Given the description of an element on the screen output the (x, y) to click on. 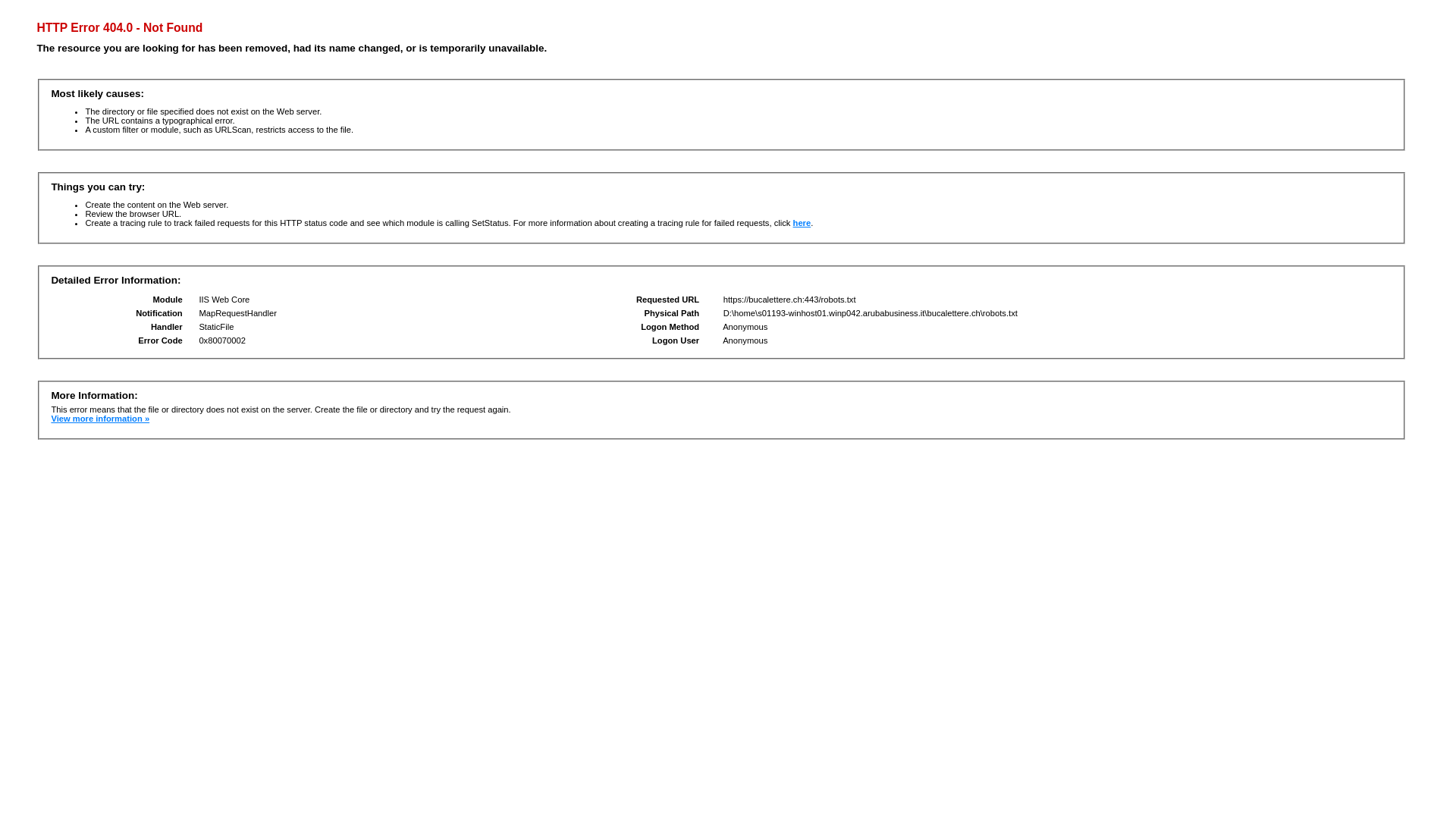
here Element type: text (802, 222)
